Given the description of an element on the screen output the (x, y) to click on. 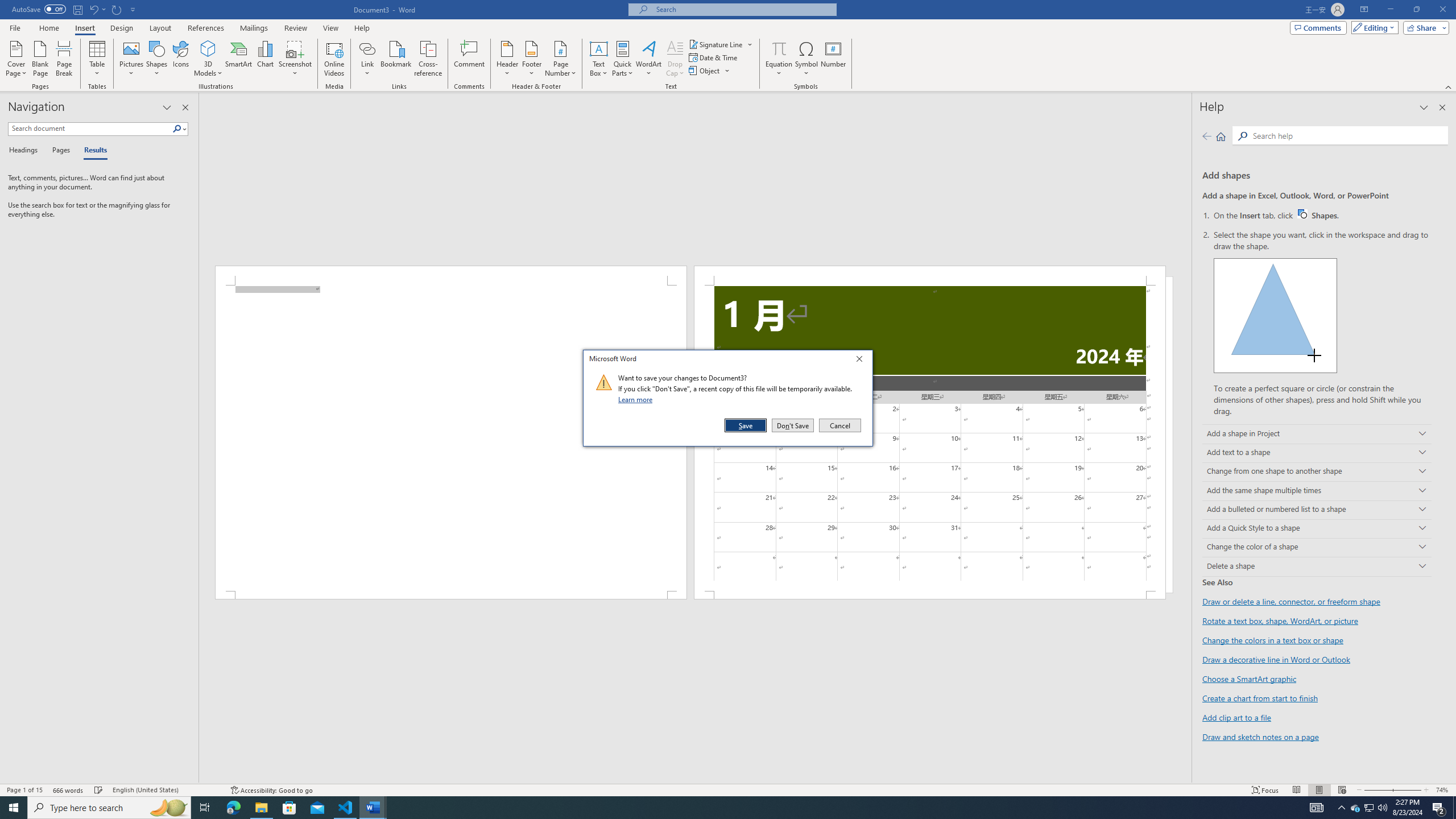
Add a shape in Project (1316, 434)
Word W32 Shapes button icon (1302, 213)
Link (367, 58)
Type here to search (108, 807)
Word Count 666 words (68, 790)
Page Number (560, 58)
Draw and sketch notes on a page (1260, 736)
Add the same shape multiple times (1316, 490)
Learn more (636, 399)
Cover Page (16, 58)
Blank Page (40, 58)
Show desktop (1454, 807)
